Given the description of an element on the screen output the (x, y) to click on. 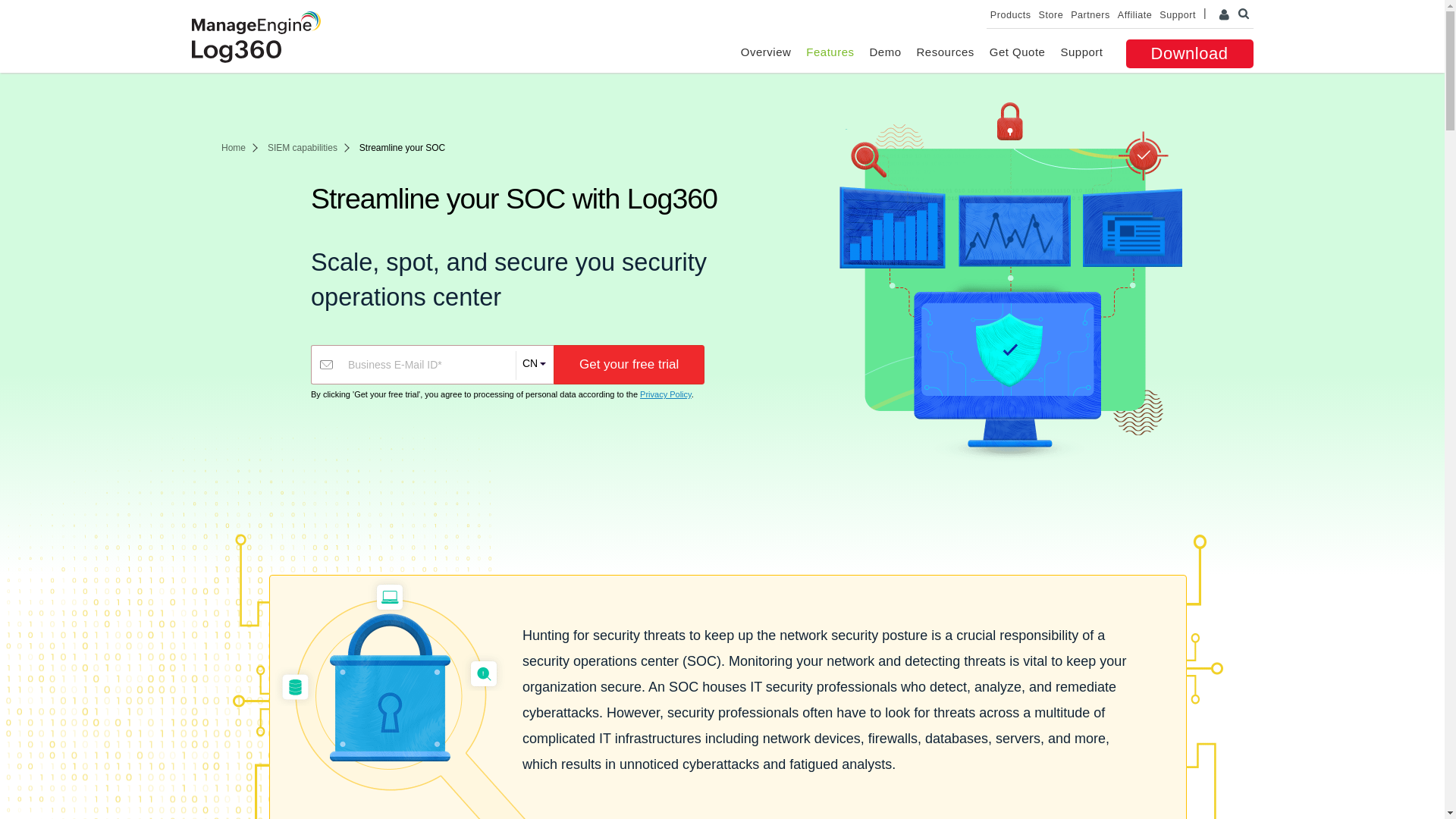
Get your free trial (628, 364)
Features (829, 51)
Resources (945, 51)
Download ManageEngine Log360 (1188, 53)
Get Quote (1017, 51)
ManageEngine Log360 (235, 51)
Overview (766, 51)
Demo (885, 51)
Support (1080, 51)
